Given the description of an element on the screen output the (x, y) to click on. 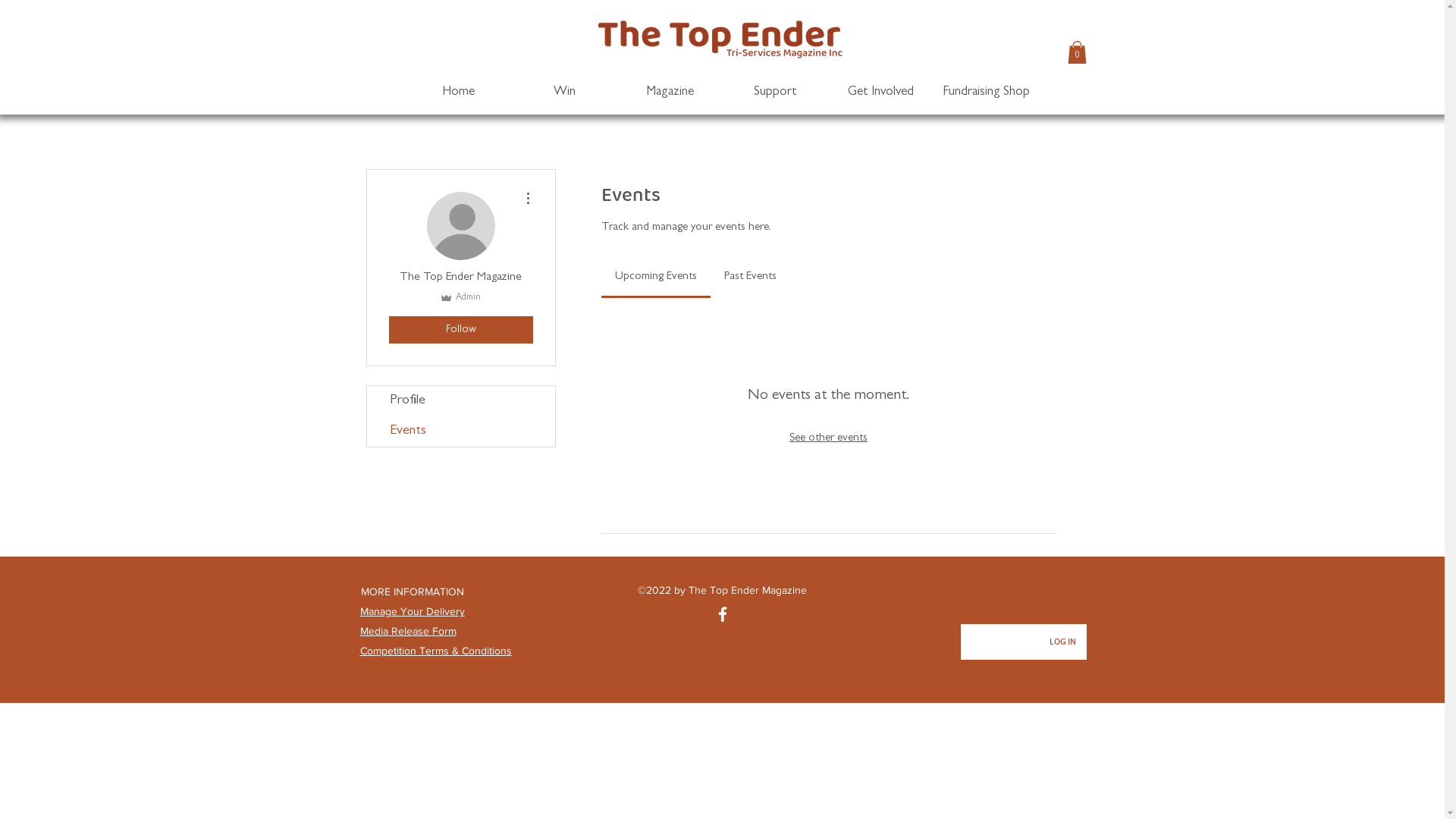
0 Element type: text (1076, 51)
Profile Element type: text (461, 400)
Media Release Form Element type: text (407, 630)
See other events Element type: text (828, 438)
Support Element type: text (774, 92)
LOG IN Element type: text (1062, 642)
Magazine Element type: text (669, 92)
Competition Terms & Conditions Element type: text (435, 650)
Home Element type: text (457, 92)
Win Element type: text (563, 92)
Manage Your Delivery Element type: text (411, 611)
Events Element type: text (461, 431)
Fundraising Shop Element type: text (985, 92)
Follow Element type: text (460, 329)
Get Involved Element type: text (880, 92)
